Given the description of an element on the screen output the (x, y) to click on. 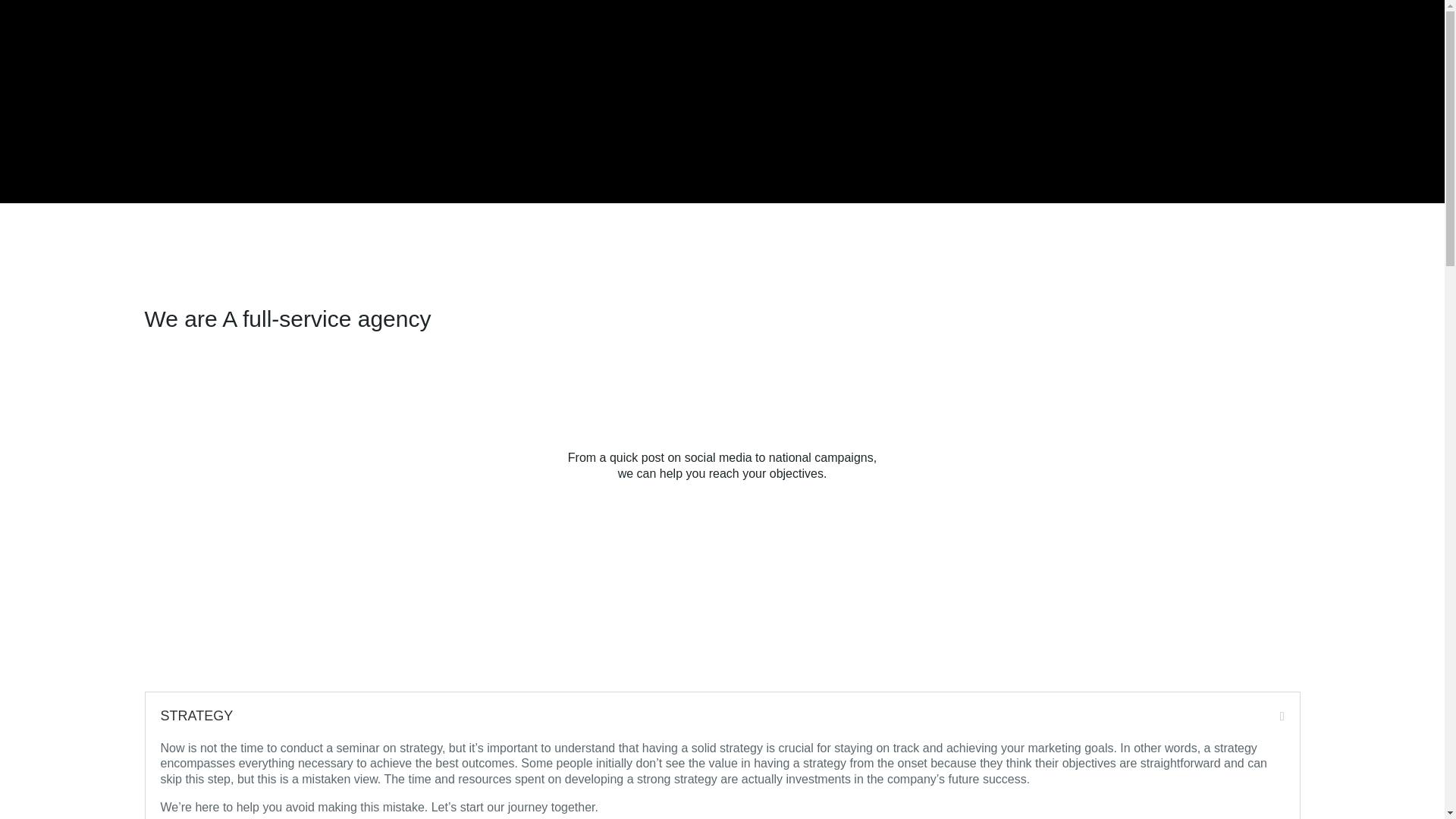
Follow on Youtube (751, 392)
Follow on LinkedIn (721, 392)
Follow on TikTok (782, 392)
Follow on Facebook (660, 392)
Follow on Instagram (691, 392)
